Given the description of an element on the screen output the (x, y) to click on. 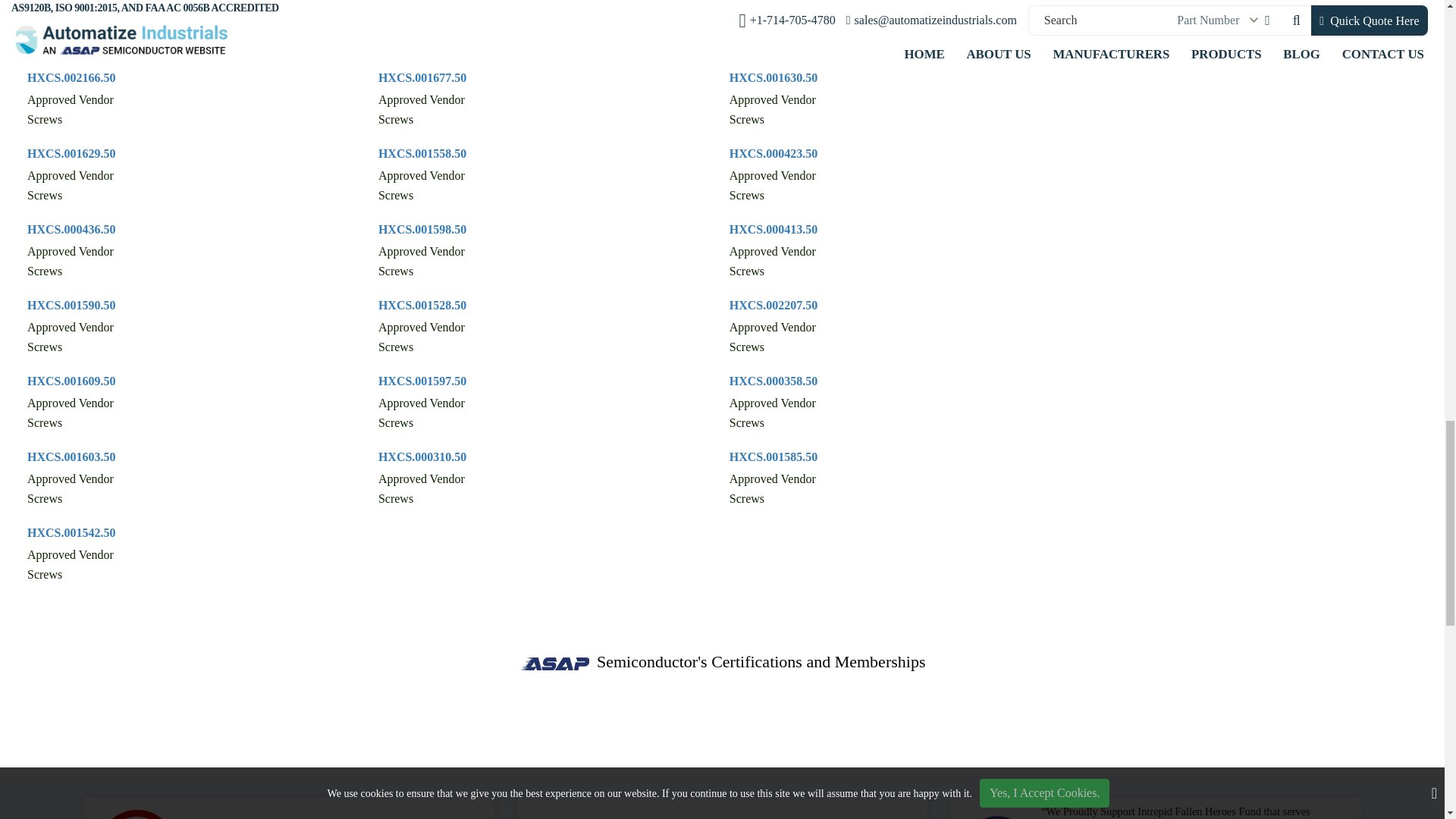
HXCS.001630.50 (772, 77)
HXCS.001598.50 (421, 228)
HXCS.002166.50 (71, 77)
HXCS.001590.50 (71, 305)
HXCS.000413.50 (772, 228)
HXCS.001629.50 (71, 153)
HXCS.001603.50 (71, 456)
HXCS.001597.50 (421, 380)
HXCS.000310.50 (421, 456)
HXCS.001558.50 (421, 153)
HXCS.000436.50 (71, 228)
HXCS.000423.50 (772, 153)
HXCS.001677.50 (421, 77)
HXCS.002207.50 (772, 305)
HXCS.000358.50 (772, 380)
